Given the description of an element on the screen output the (x, y) to click on. 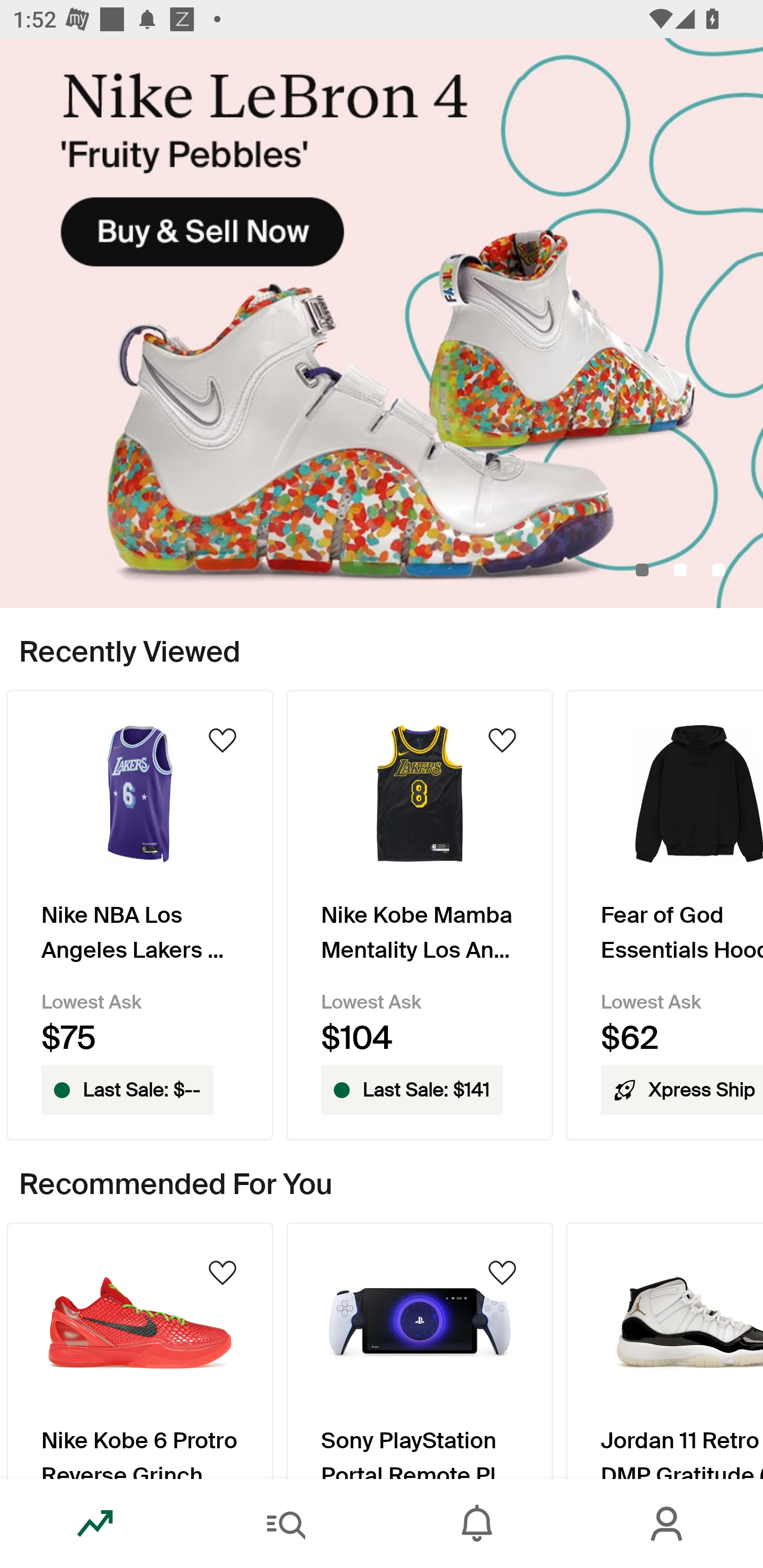
Product Image Nike Kobe 6 Protro Reverse Grinch (139, 1349)
Search (285, 1523)
Inbox (476, 1523)
Account (667, 1523)
